Given the description of an element on the screen output the (x, y) to click on. 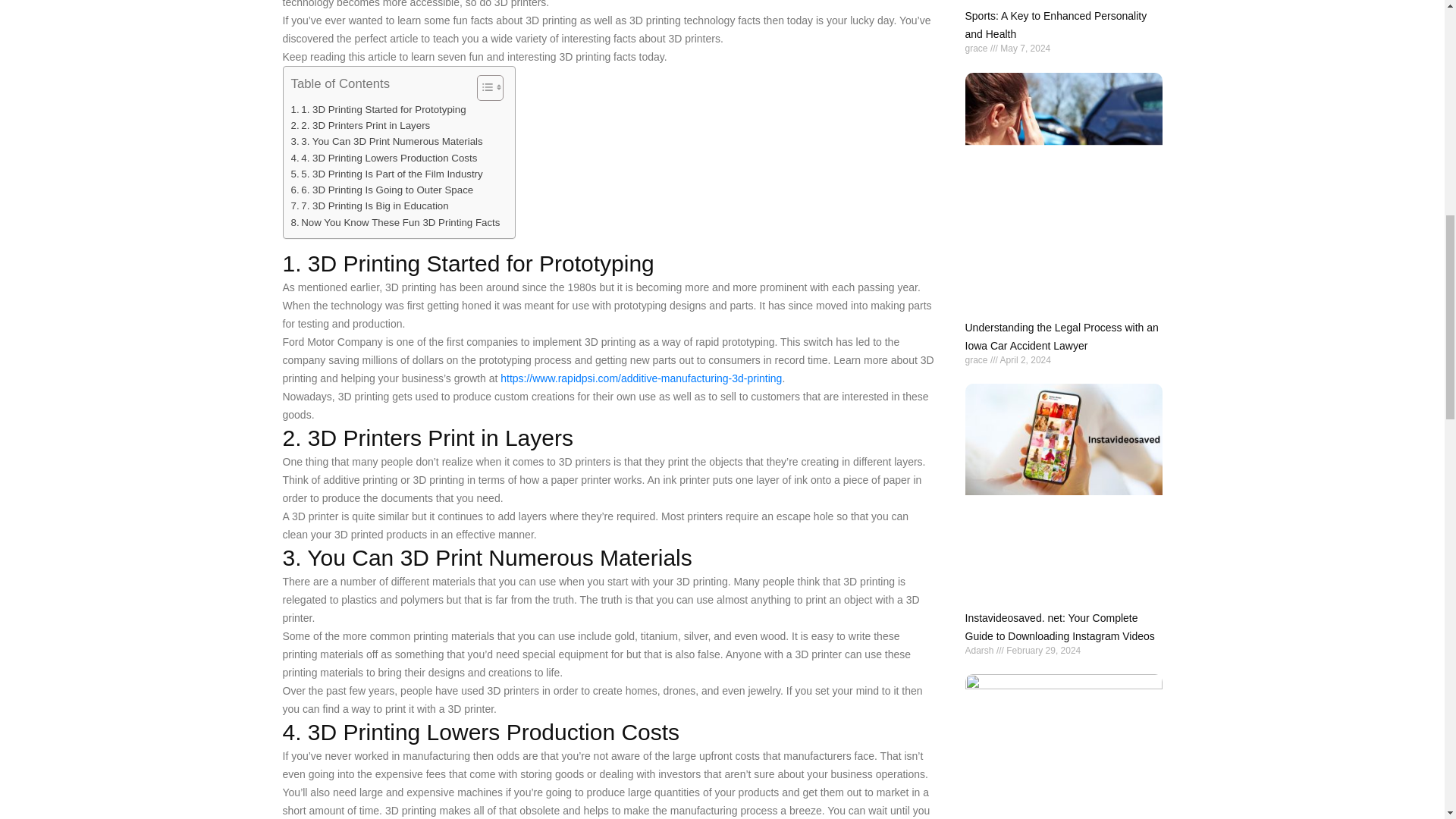
1. 3D Printing Started for Prototyping (378, 109)
2. 3D Printers Print in Layers (360, 125)
7. 3D Printing Is Big in Education (369, 205)
4. 3D Printing Lowers Production Costs (384, 157)
Now You Know These Fun 3D Printing Facts (395, 222)
6. 3D Printing Is Going to Outer Space (382, 189)
5. 3D Printing Is Part of the Film Industry (387, 173)
3. You Can 3D Print Numerous Materials (387, 141)
